Given the description of an element on the screen output the (x, y) to click on. 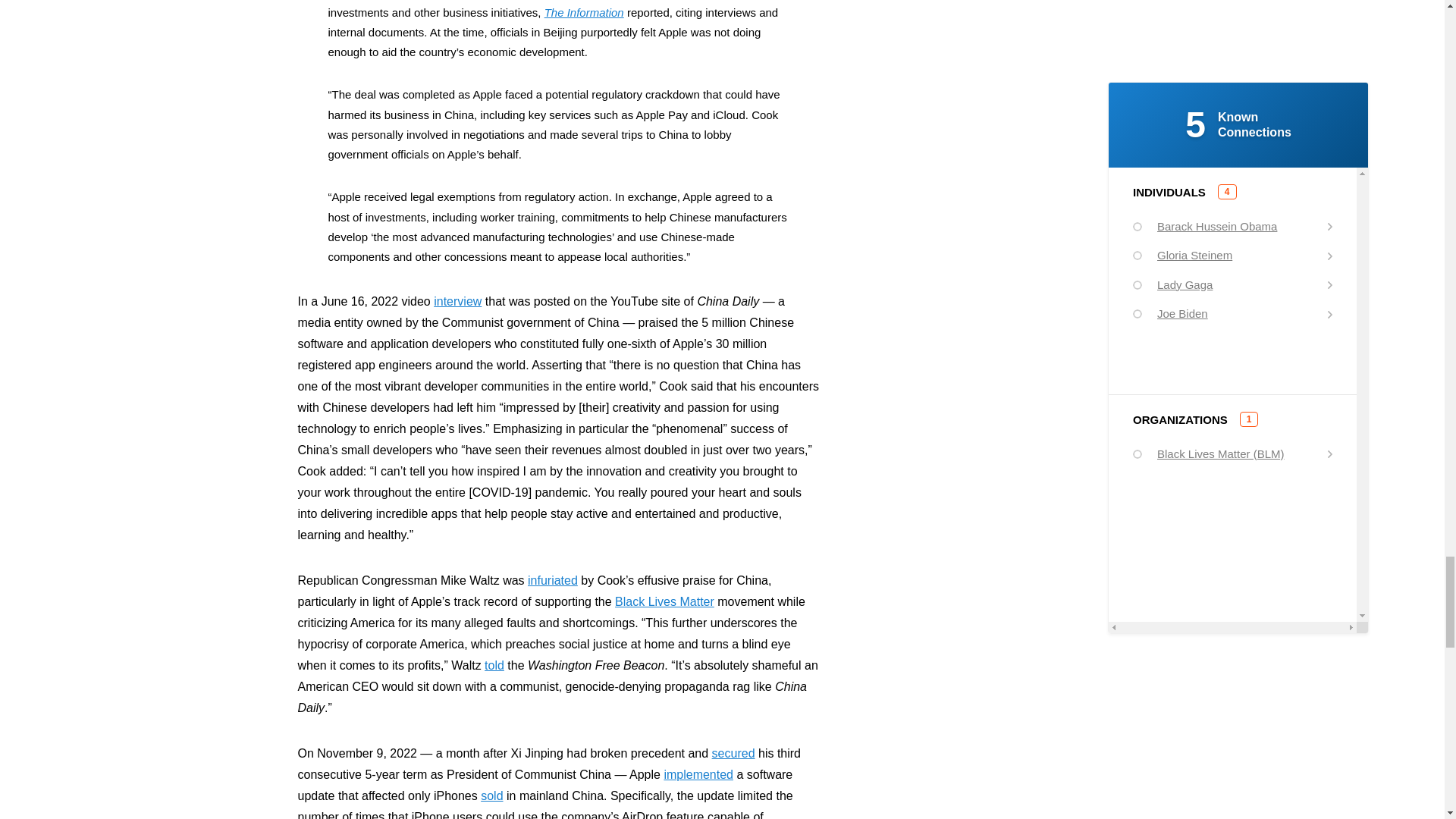
secured (733, 753)
implemented (698, 774)
infuriated (552, 580)
Black Lives Matter (664, 601)
told (493, 665)
The Information (584, 11)
interview (457, 300)
